Given the description of an element on the screen output the (x, y) to click on. 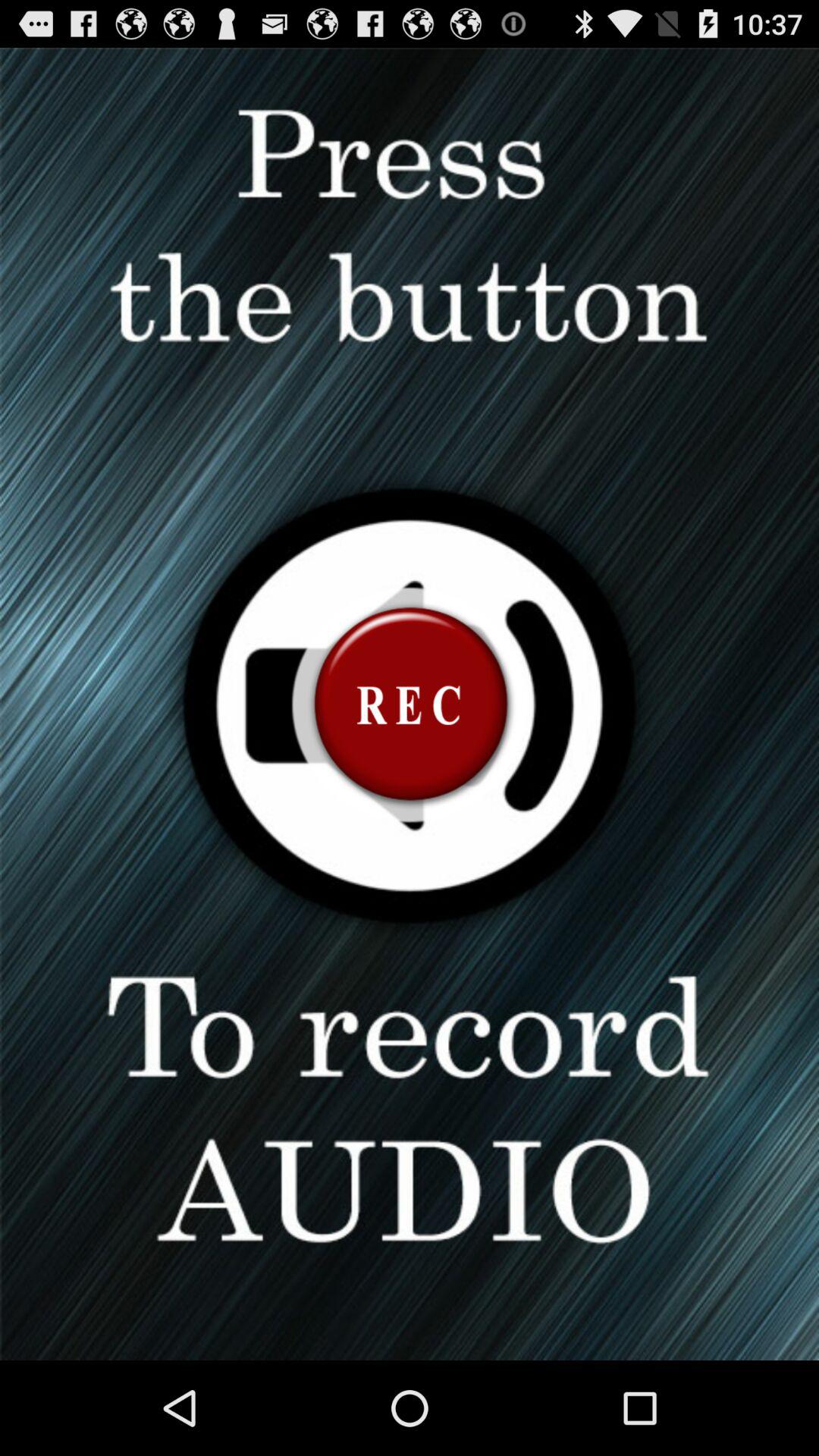
start recording (409, 703)
